Given the description of an element on the screen output the (x, y) to click on. 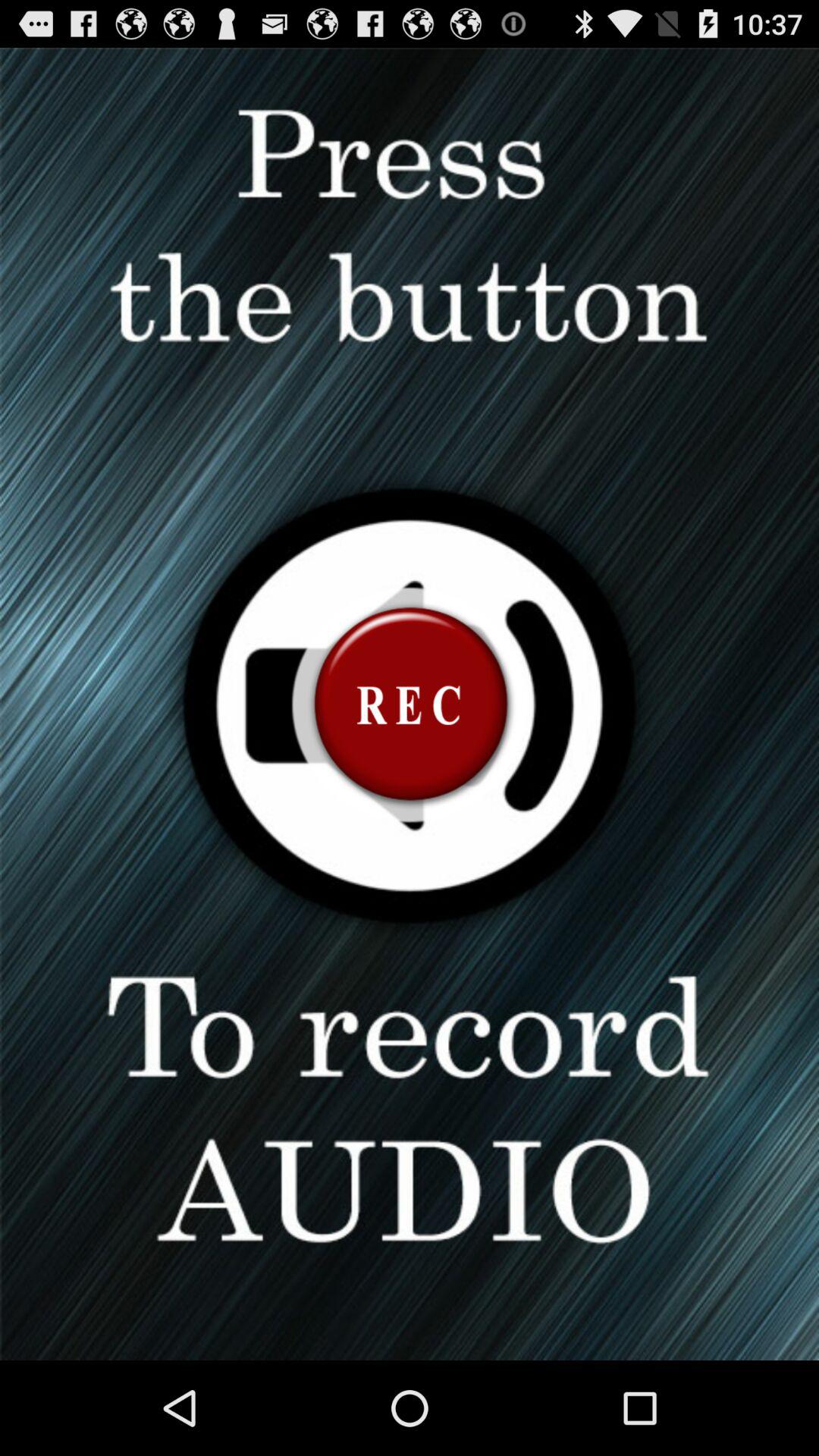
start recording (409, 703)
